Given the description of an element on the screen output the (x, y) to click on. 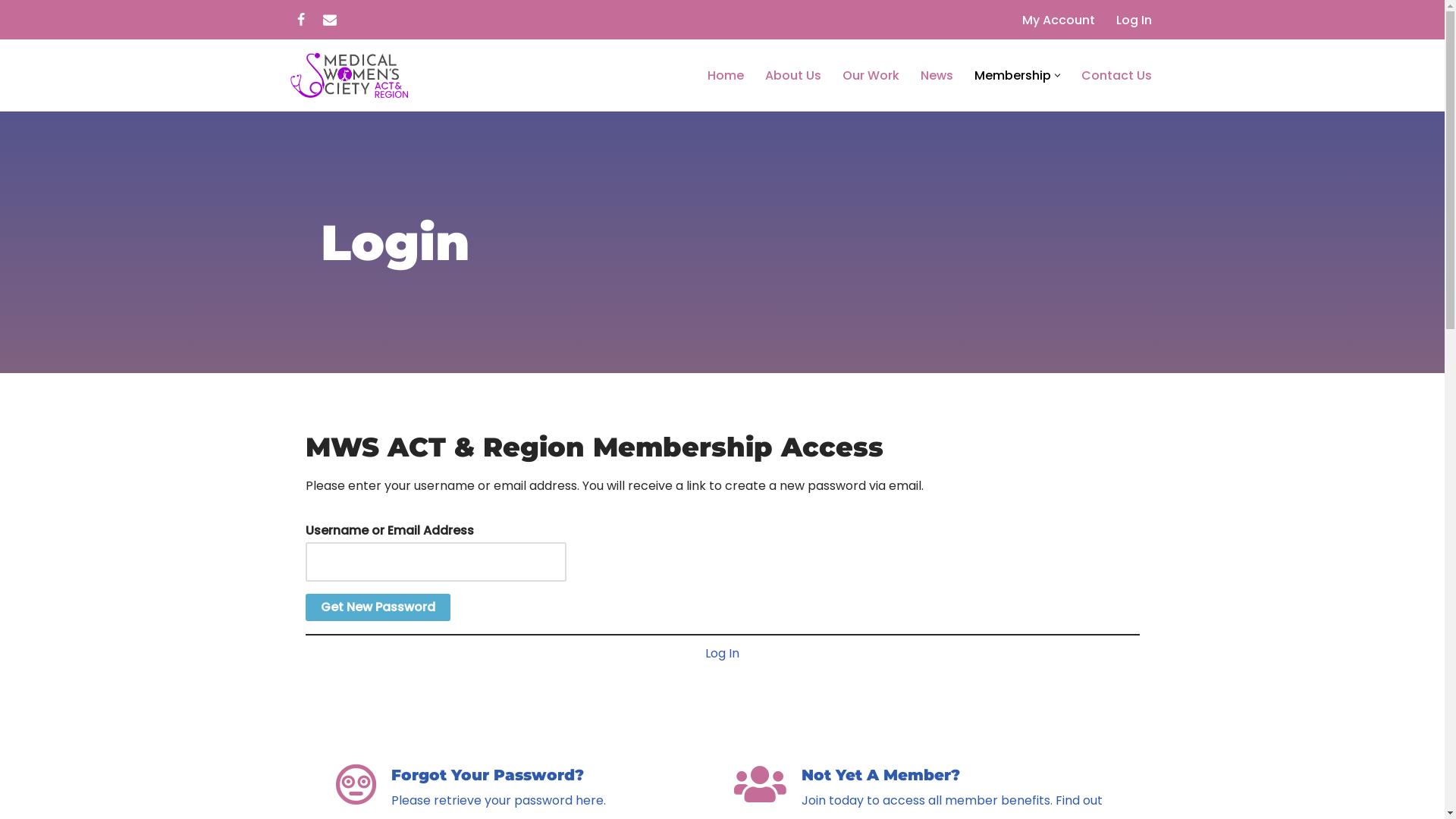
act@afmw.org.au Element type: hover (328, 19)
Contact Us Element type: text (1116, 75)
Facebook Element type: hover (299, 19)
Get New Password Element type: text (376, 607)
Skip to content Element type: text (11, 31)
Forgot Your Password?
Please retrieve your password here. Element type: text (522, 787)
Membership Element type: text (1011, 75)
My Account Element type: text (1058, 19)
Log In Element type: text (1133, 19)
About Us Element type: text (792, 75)
Our Work Element type: text (869, 75)
Log In Element type: text (722, 653)
News Element type: text (936, 75)
Home Element type: text (724, 75)
